Given the description of an element on the screen output the (x, y) to click on. 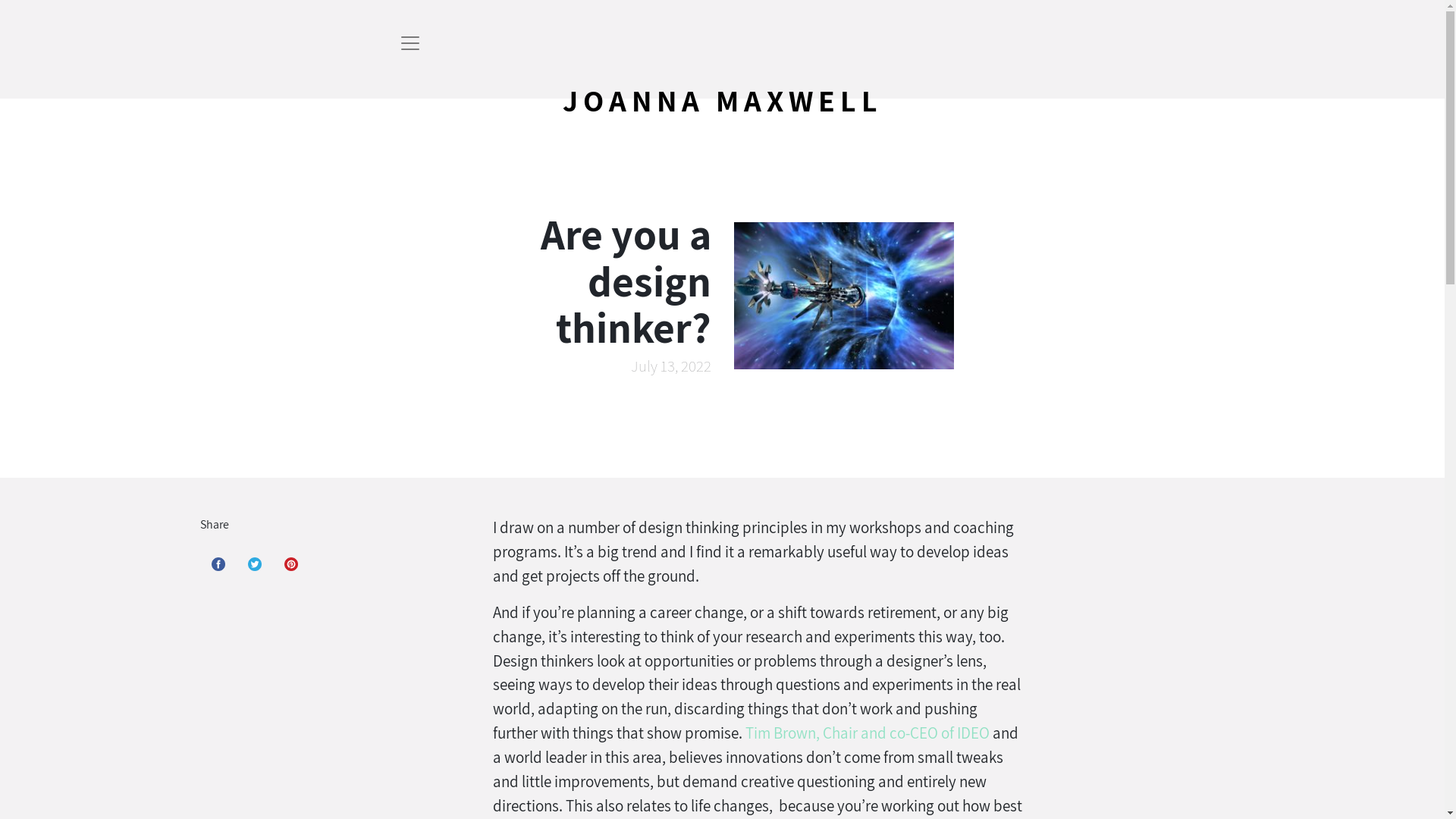
twitter Element type: hover (254, 564)
Tim Brown, Chair and co-CEO of IDEO Element type: text (867, 732)
pinterest Element type: hover (291, 564)
facebook Element type: hover (218, 564)
